Given the description of an element on the screen output the (x, y) to click on. 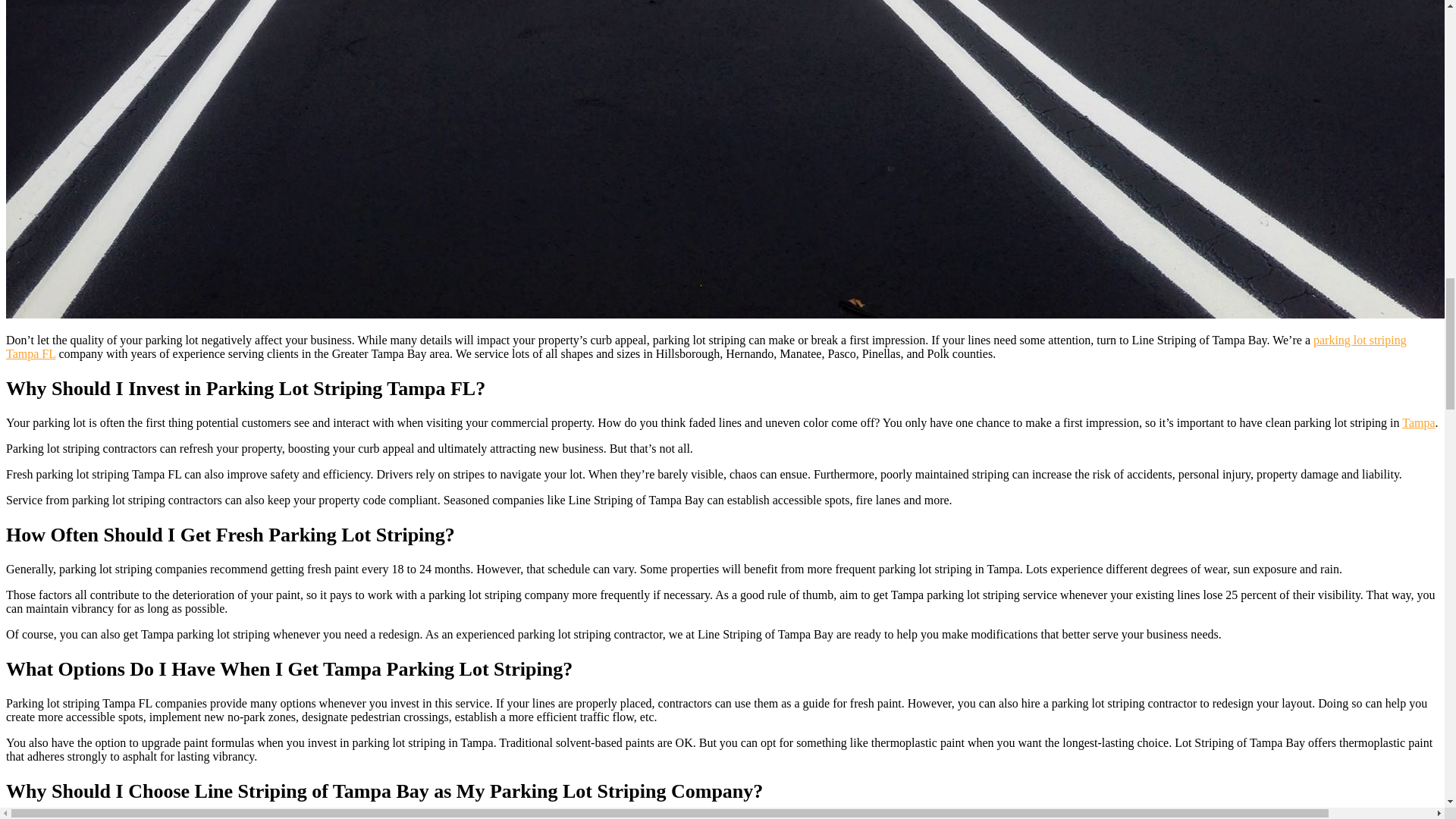
parking lot striping Tampa FL (705, 346)
Tampa (1418, 422)
